Given the description of an element on the screen output the (x, y) to click on. 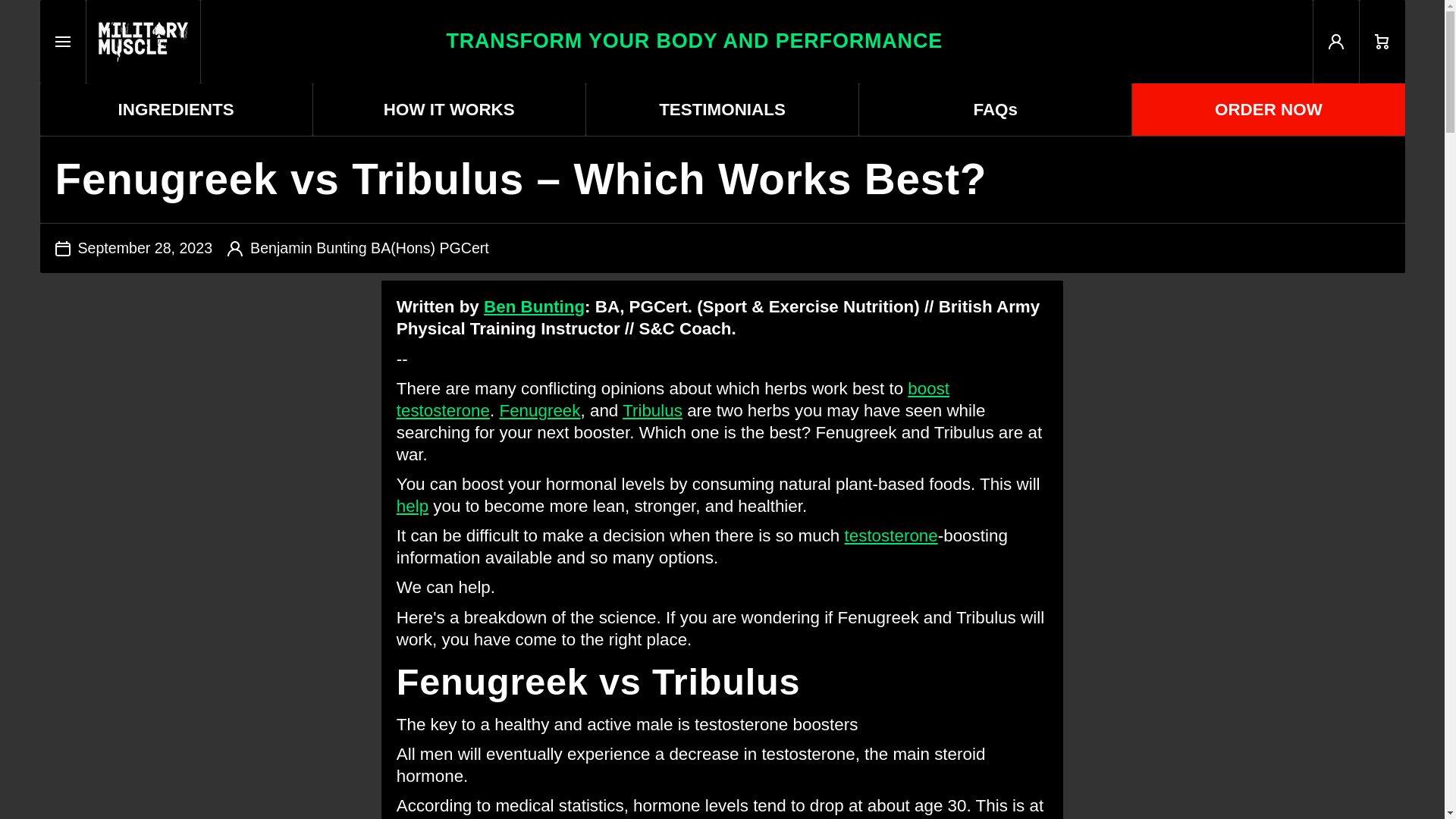
boost testosterone (755, 41)
help (672, 399)
HOW IT WORKS (412, 505)
ORDER NOW (449, 109)
Tribulus (1268, 109)
Tribulus (652, 410)
INGREDIENTS (652, 410)
help (175, 109)
boost testosterone (412, 505)
testosterone (672, 399)
testosterone (890, 535)
about us (890, 535)
FAQs (534, 306)
Fenugreek (995, 109)
